Given the description of an element on the screen output the (x, y) to click on. 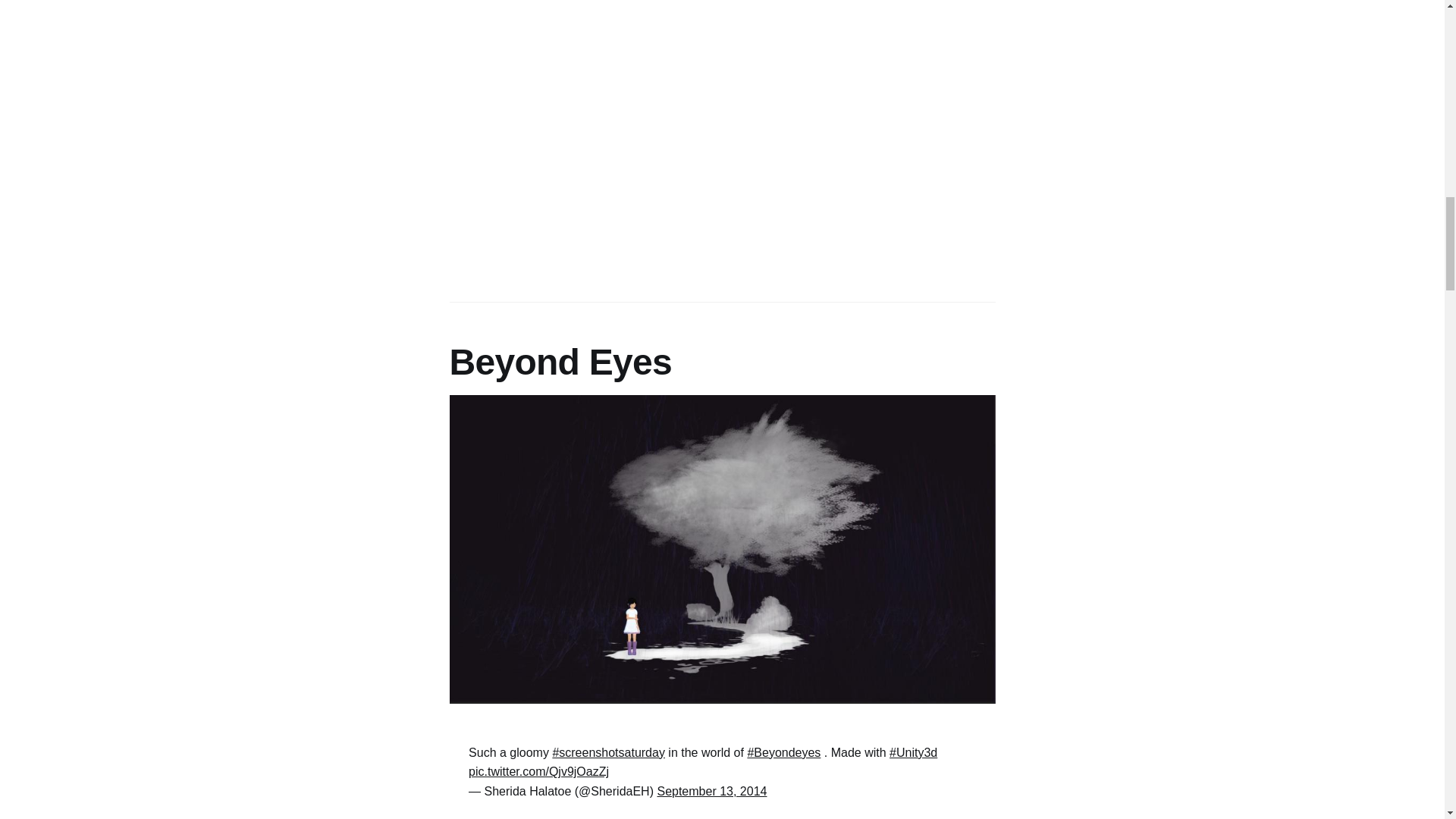
September 13, 2014 (711, 790)
